Given the description of an element on the screen output the (x, y) to click on. 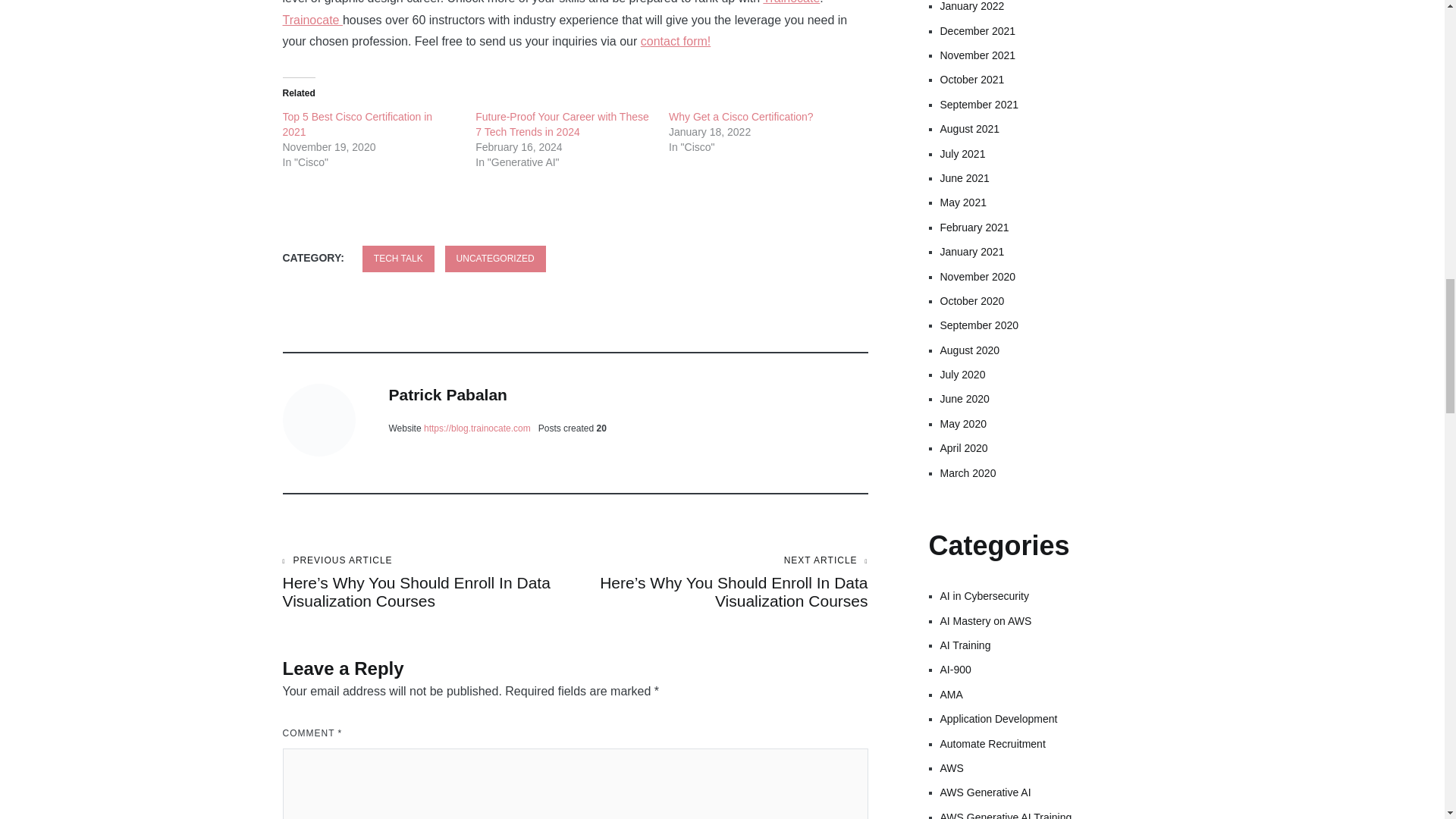
Why Get a Cisco Certification? (740, 116)
Future-Proof Your Career with These 7 Tech Trends in 2024 (562, 124)
Top 5 Best Cisco Certification in 2021 (357, 124)
Trainocate (312, 19)
Trainocate (790, 2)
Posts by Patrick Pabalan (447, 394)
